Given the description of an element on the screen output the (x, y) to click on. 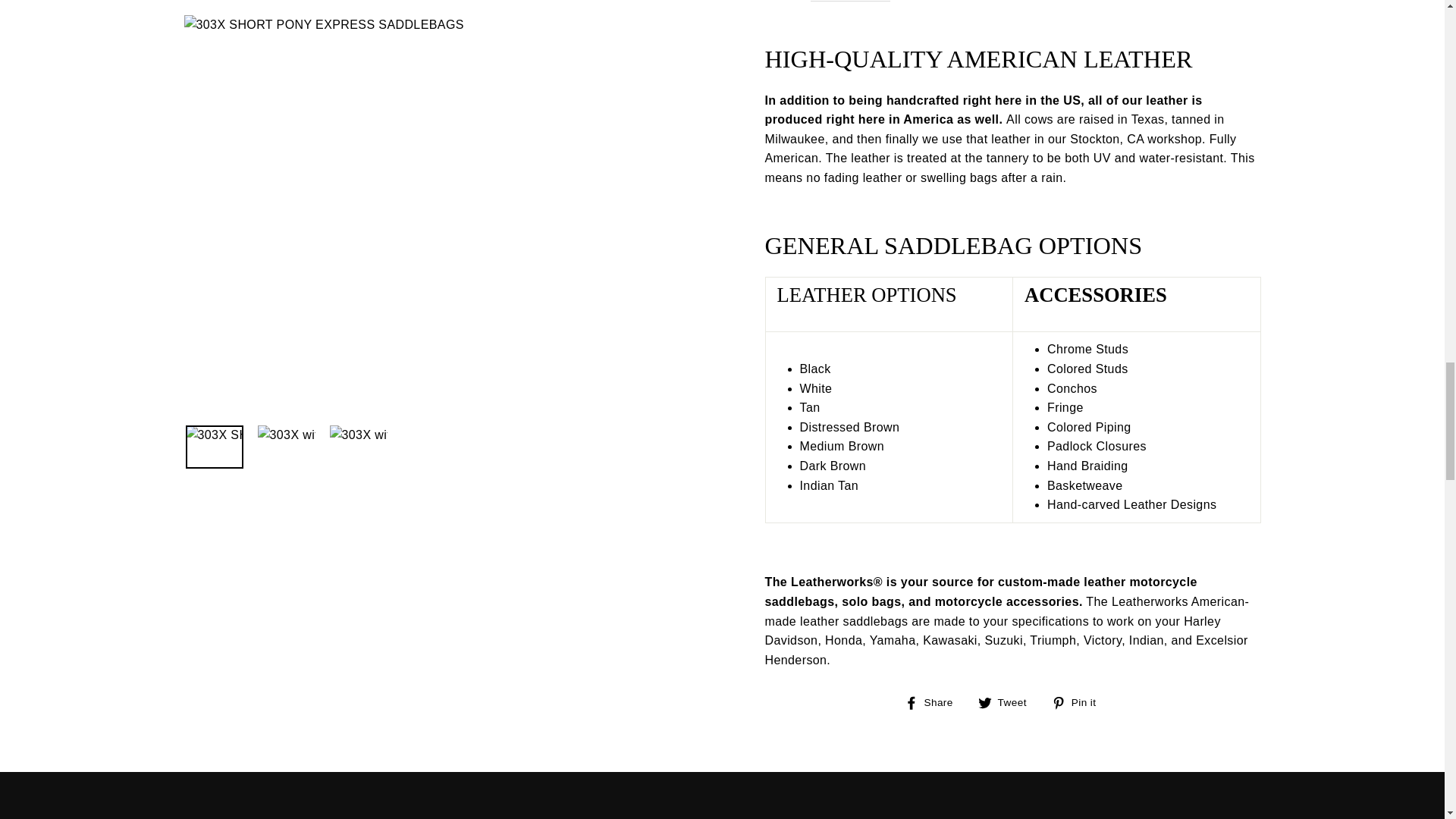
Pin on Pinterest (1078, 701)
Tweet on Twitter (1008, 701)
303X Fitment Guide (850, 1)
Share on Facebook (933, 701)
